Given the description of an element on the screen output the (x, y) to click on. 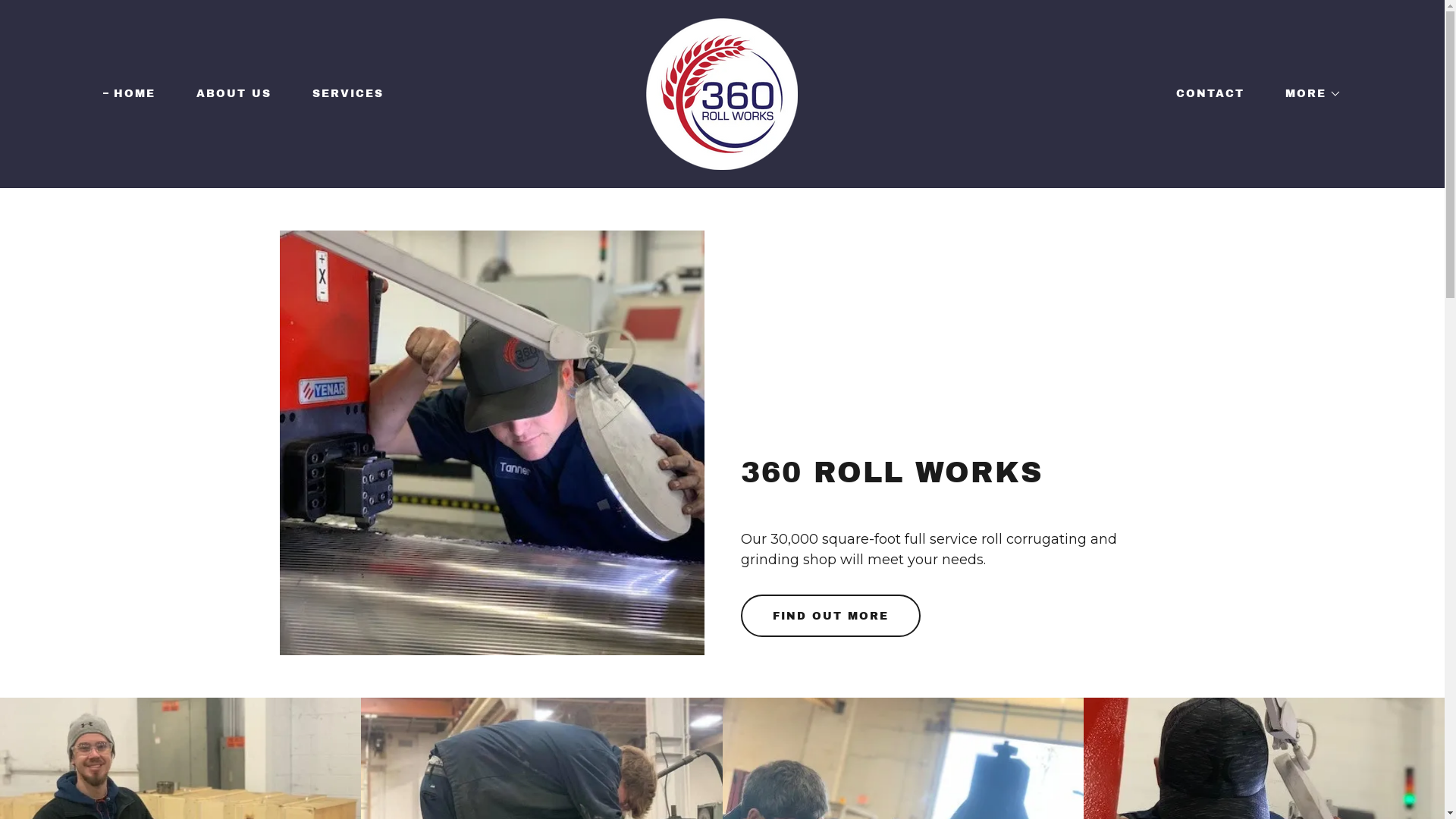
HOME Element type: text (129, 93)
MORE Element type: text (1307, 93)
FIND OUT MORE Element type: text (829, 615)
360rollworks Element type: hover (721, 92)
CONTACT Element type: text (1204, 93)
ABOUT US Element type: text (228, 93)
SERVICES Element type: text (342, 93)
